Given the description of an element on the screen output the (x, y) to click on. 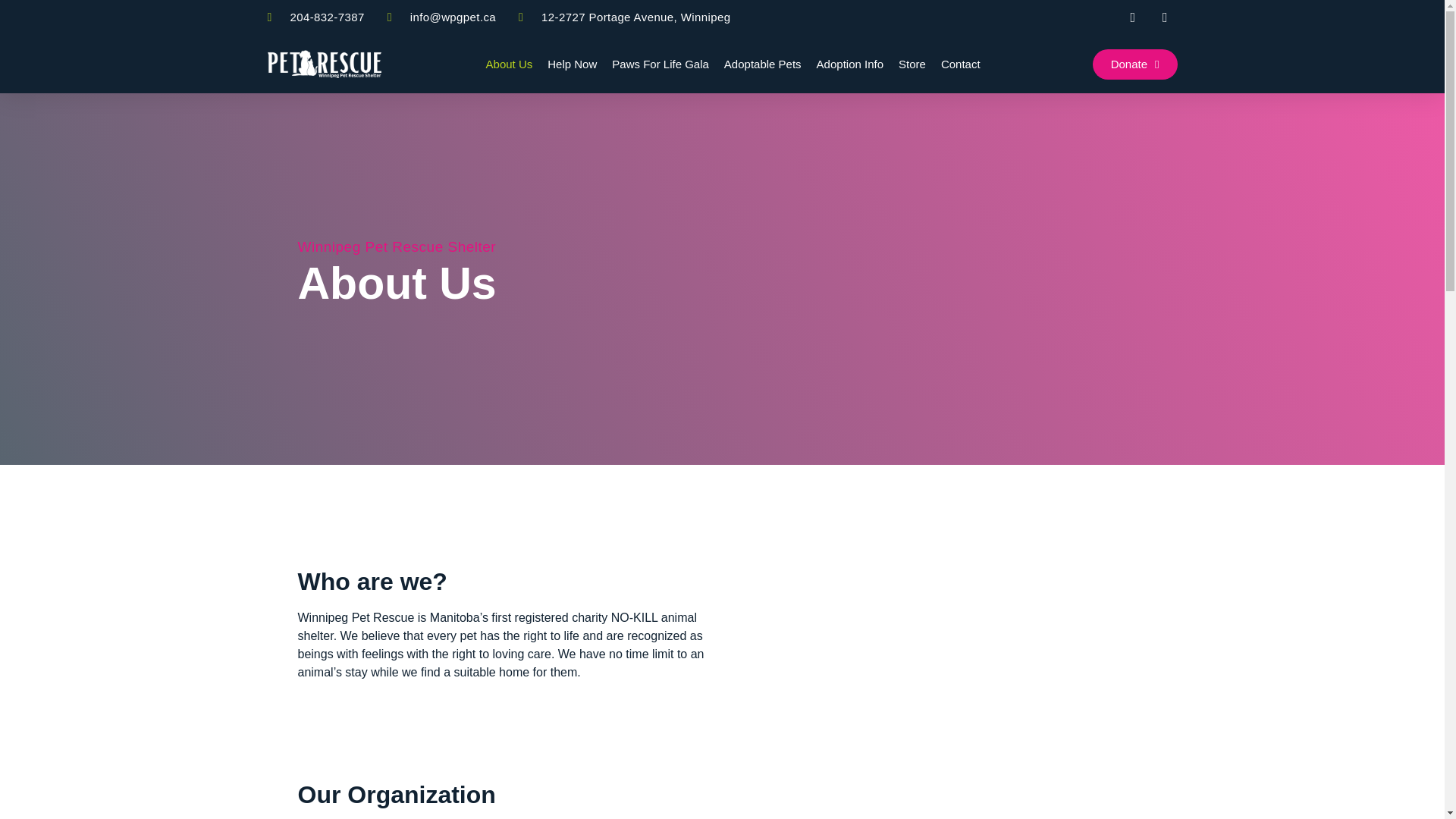
Adoption Info (849, 63)
Help Now (571, 63)
About Us (509, 63)
Paws For Life Gala (660, 63)
Adoptable Pets (762, 63)
Contact (959, 63)
Donate (1135, 63)
